Given the description of an element on the screen output the (x, y) to click on. 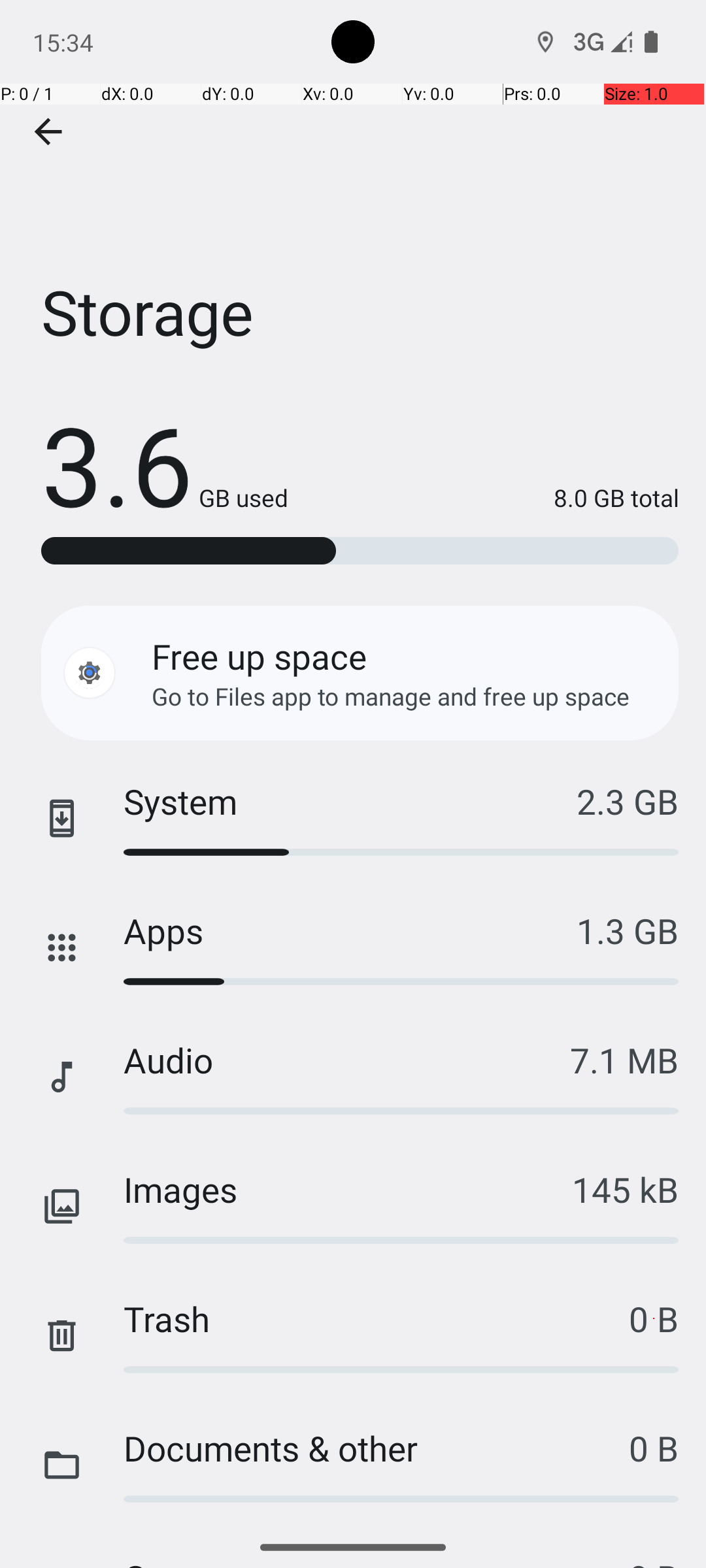
3.6 GB used Element type: android.widget.TextView (164, 463)
8.0 GB total Element type: android.widget.TextView (483, 497)
Free up space Element type: android.widget.TextView (258, 656)
Go to Files app to manage and free up space Element type: android.widget.TextView (390, 695)
2.3 GB Element type: android.widget.TextView (627, 801)
1.3 GB Element type: android.widget.TextView (627, 930)
7.1 MB Element type: android.widget.TextView (624, 1059)
145 kB Element type: android.widget.TextView (624, 1189)
0 B Element type: android.widget.TextView (653, 1318)
Documents & other Element type: android.widget.TextView (375, 1447)
